Given the description of an element on the screen output the (x, y) to click on. 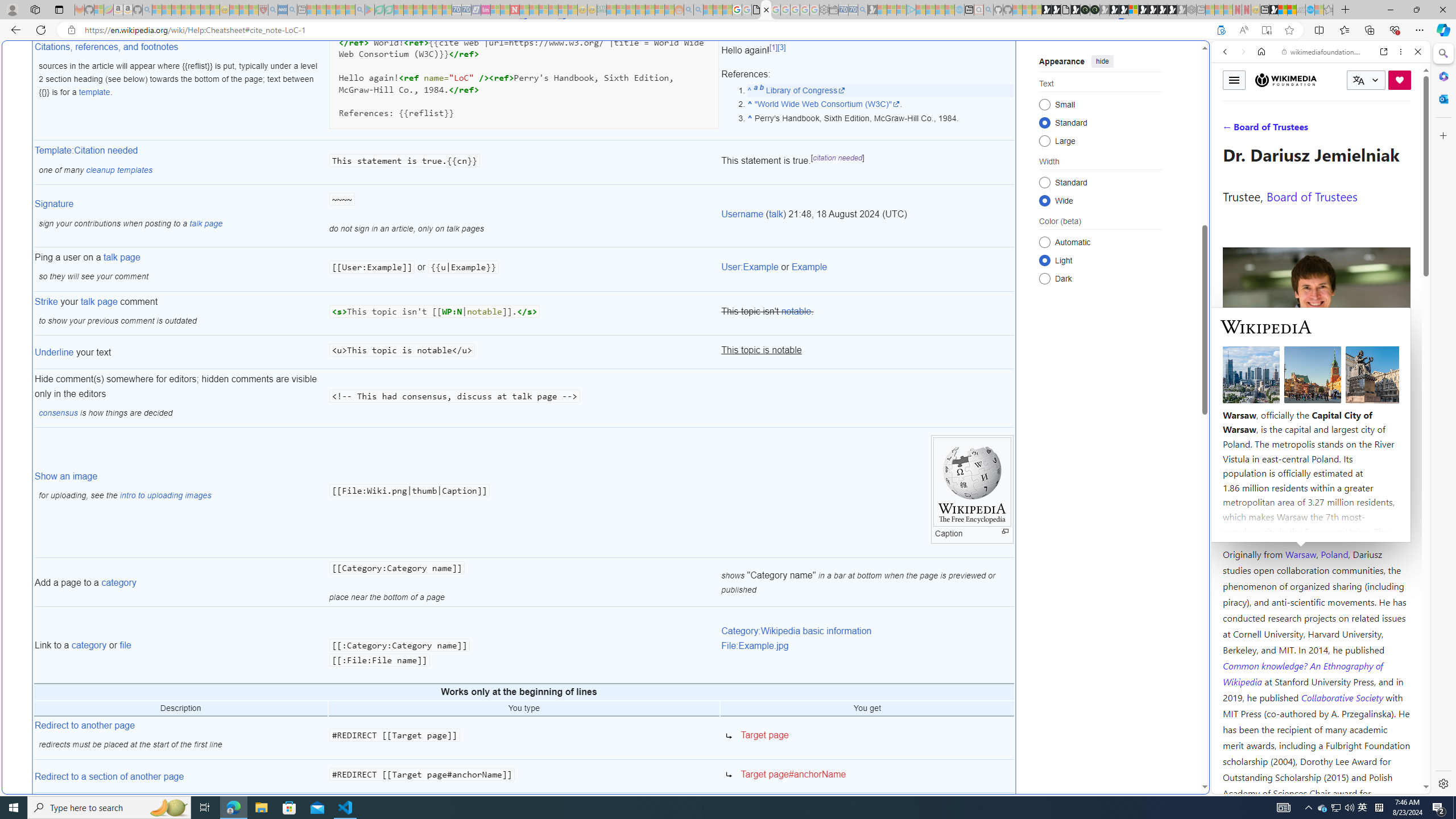
Redirect to another page (84, 724)
<u>This topic is notable</u> (523, 352)
^ "World Wide Web Consortium (W3C)". (879, 104)
Class: i icon icon-translate language-switcher__icon (1358, 80)
Category:Wikipedia basic information (796, 631)
